Given the description of an element on the screen output the (x, y) to click on. 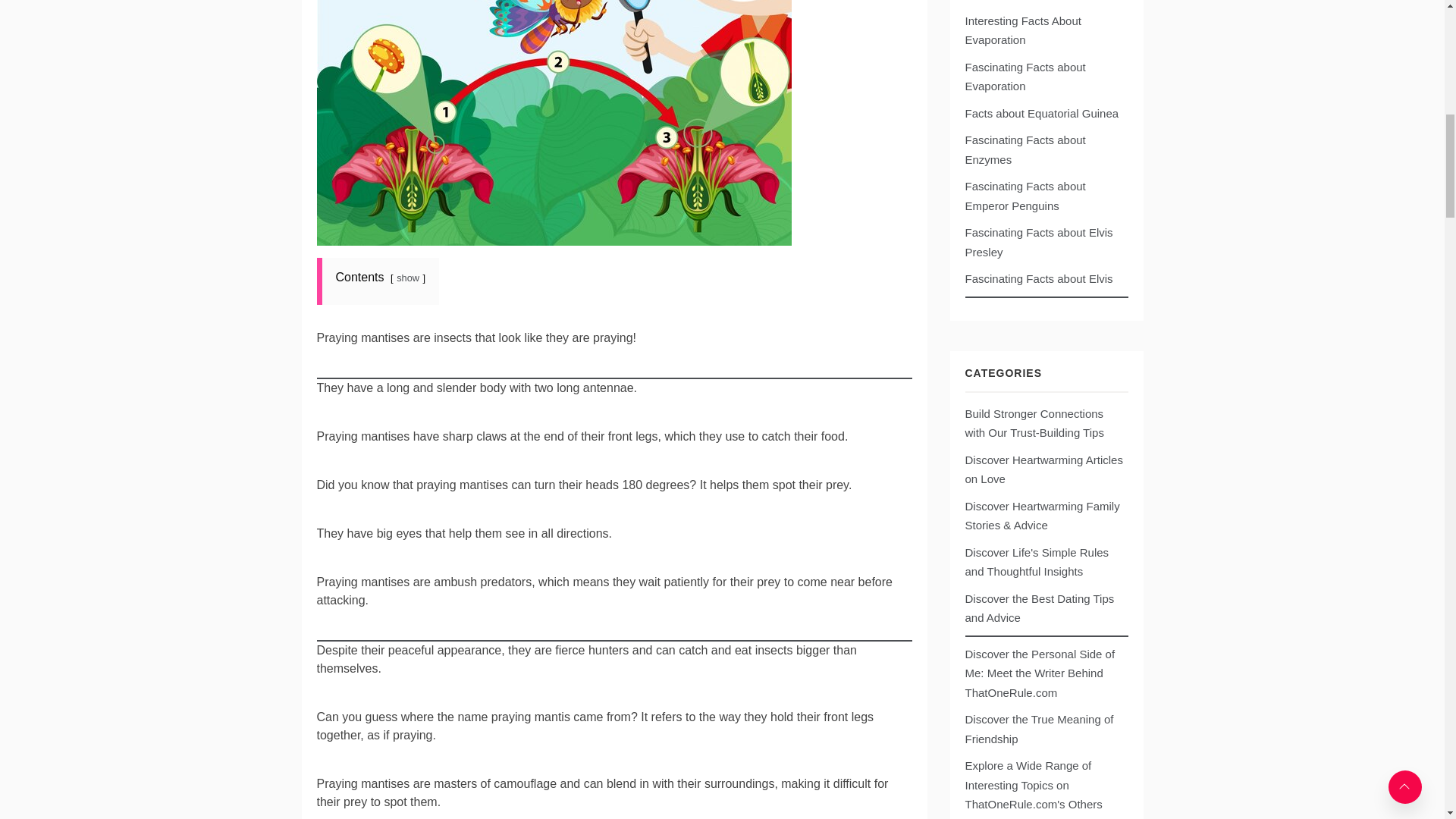
Discover the Best Dating Tips and Advice (1043, 608)
Facts about Equatorial Guinea (1040, 113)
Discover Heartwarming Articles on Love (1043, 469)
Fascinating Facts about Enzymes (1023, 149)
show (407, 277)
Build Stronger Connections with Our Trust-Building Tips (1043, 423)
Fascinating Facts about Elvis Presley (1037, 242)
Discover Life's Simple Rules and Thoughtful Insights (1043, 561)
Fascinating Facts about Elvis (1037, 278)
Interesting Facts About Evaporation (1021, 30)
